Given the description of an element on the screen output the (x, y) to click on. 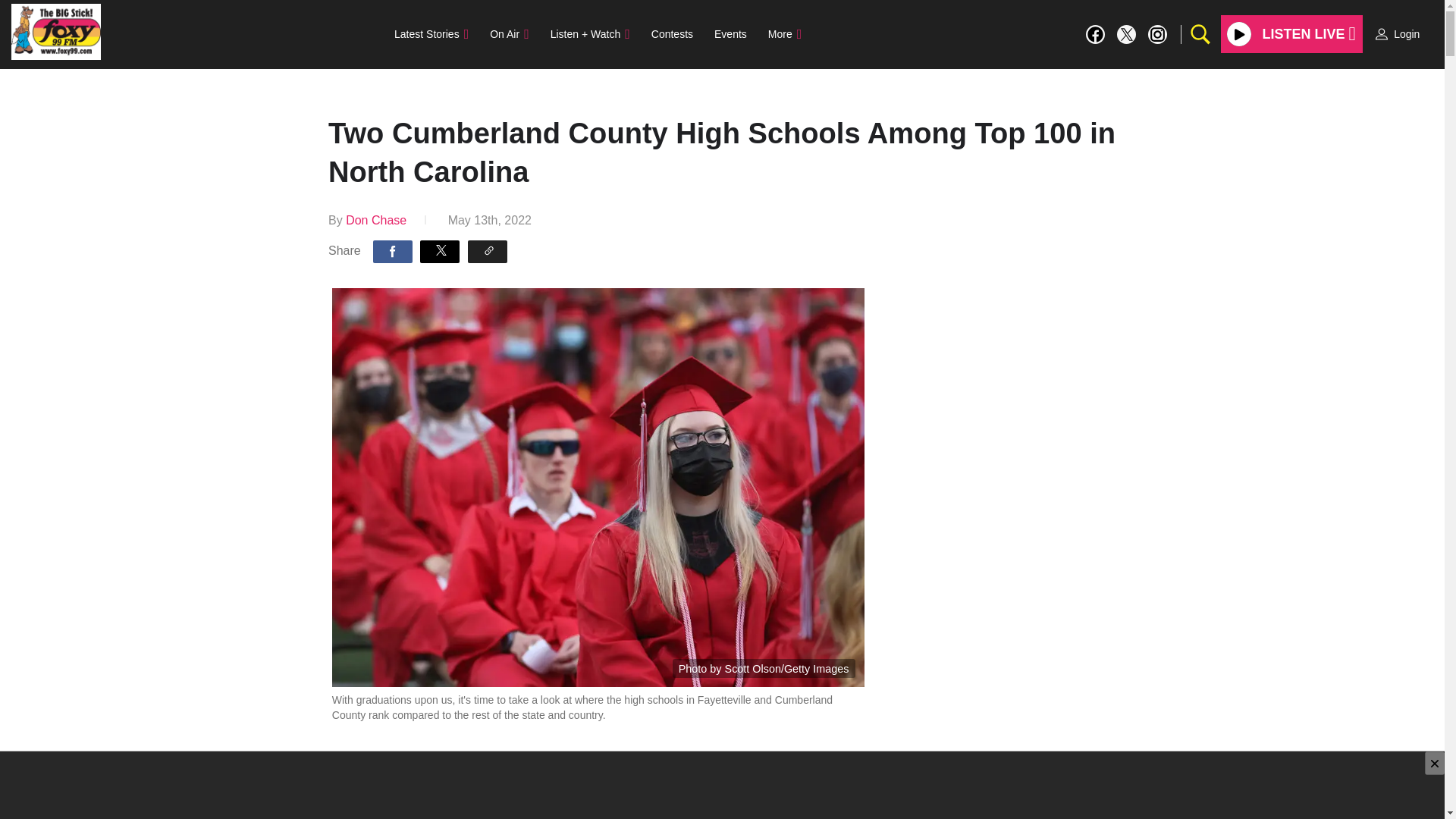
Don Chase (376, 219)
Close AdCheckmark indicating ad close (1434, 763)
Events (730, 33)
Contests (671, 33)
More (784, 33)
On Air (508, 33)
Latest Stories (431, 33)
3rd party ad content (721, 785)
